Given the description of an element on the screen output the (x, y) to click on. 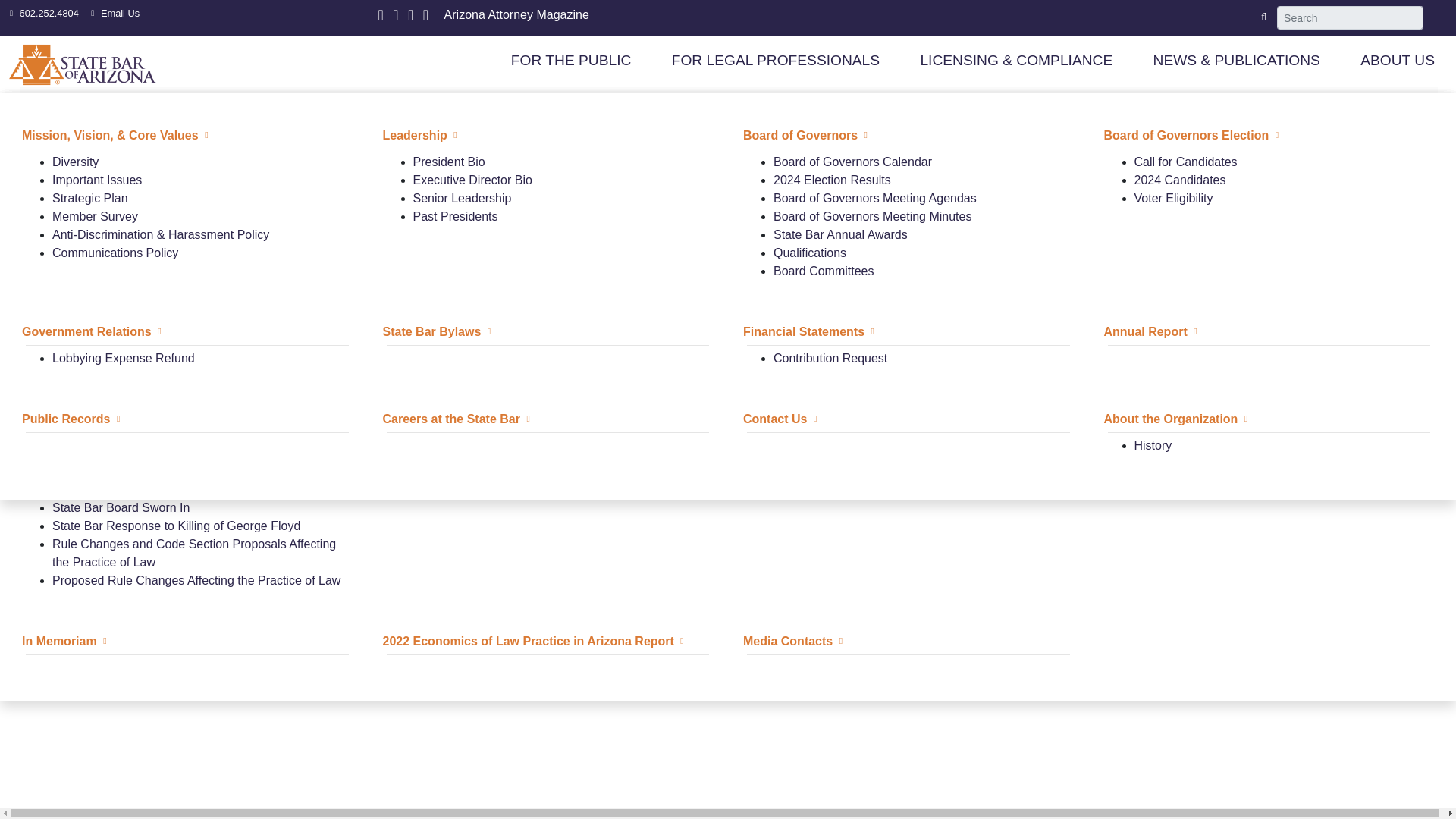
Submitting a charge (465, 197)
Speakers Bureau (99, 270)
Frequently Asked Questions (1209, 161)
Problems with Nonlawyers (845, 394)
Public Meetings Calendar (842, 197)
Client Protection Fund (1173, 134)
Public Meetings Policy (834, 161)
Search for a Lawyer (106, 288)
Check Lawyer Discipline (478, 161)
Fee Arbitration (69, 367)
Concerns About Your Legal Professional? (507, 134)
Video Law Library (100, 161)
Public Records Request Form (853, 179)
Charge Form (447, 215)
Conservatorship Program (461, 367)
